Given the description of an element on the screen output the (x, y) to click on. 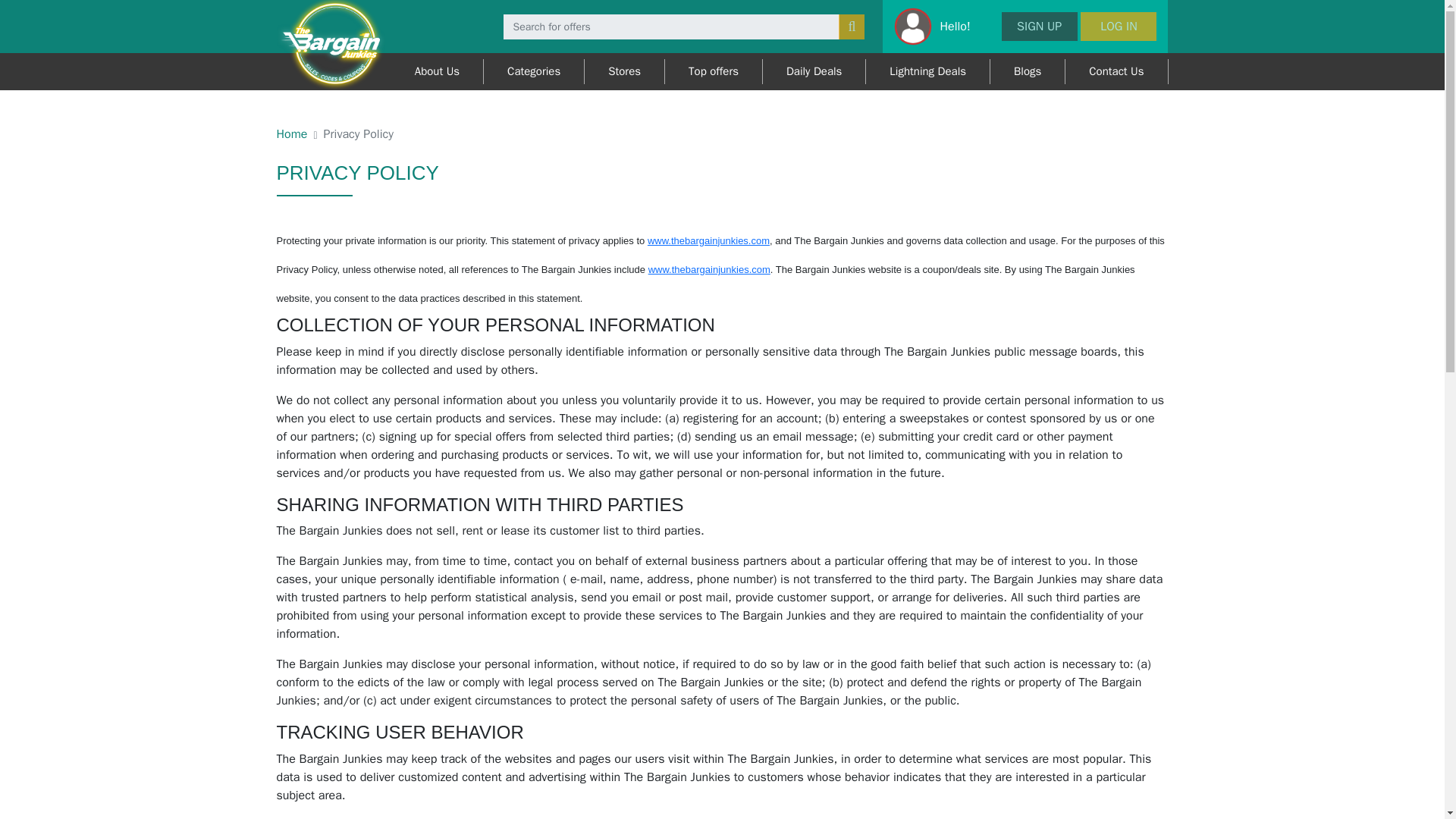
Top offers (713, 71)
Blogs (1027, 71)
Privacy Policy (358, 133)
About Us (437, 71)
Categories (534, 71)
Stores (625, 71)
www.thebargainjunkies.com (708, 269)
Home (291, 133)
LOG IN (1118, 26)
SIGN UP (1039, 26)
